Given the description of an element on the screen output the (x, y) to click on. 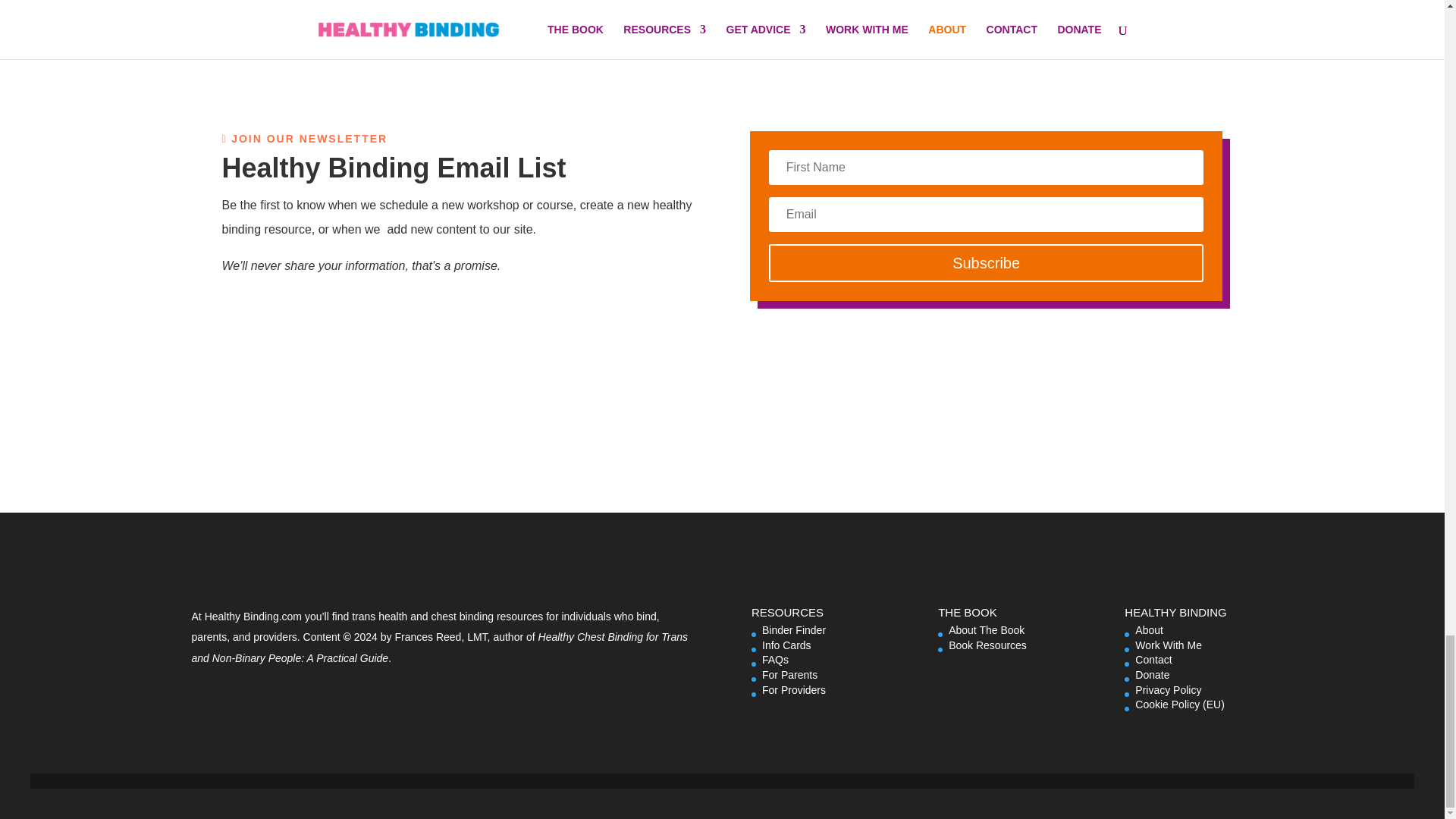
Healthy Binding.com (253, 616)
resources (519, 616)
Info Cards (785, 645)
parents (208, 636)
Subscribe (986, 262)
individuals who bind (608, 616)
FAQs (775, 659)
providers (275, 636)
Binder Finder (793, 630)
